Given the description of an element on the screen output the (x, y) to click on. 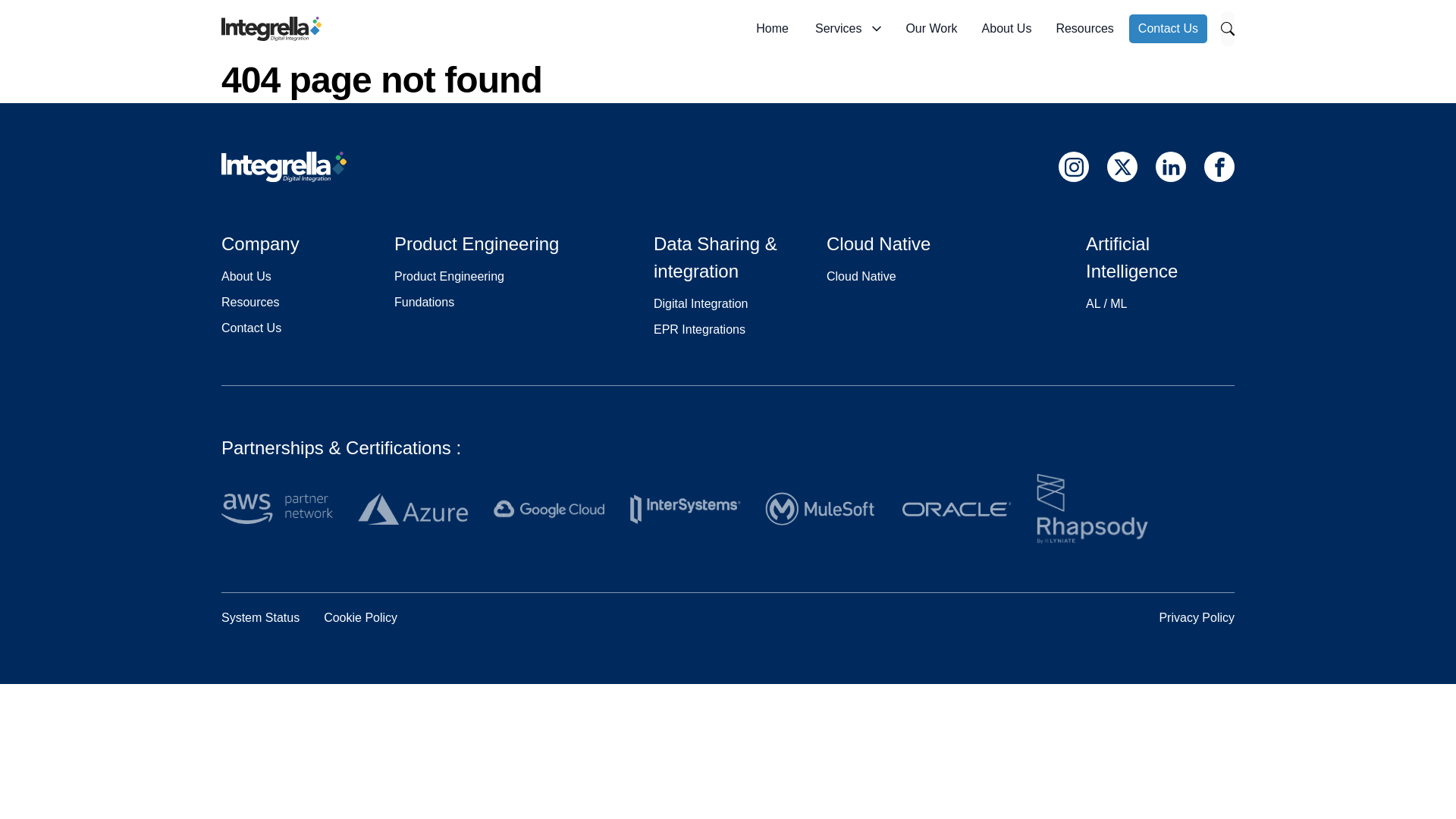
EPR Integrations (699, 328)
Product Engineering (448, 276)
Privacy Policy (1196, 617)
Cloud Native (861, 276)
About Us (245, 276)
Contact Us (251, 327)
Our Work (931, 28)
Home (771, 28)
Cookie Policy (360, 617)
About Us (1006, 28)
Resources (1084, 28)
Fundations (424, 301)
Resources (250, 301)
System Status (260, 617)
Digital Integration (700, 303)
